Given the description of an element on the screen output the (x, y) to click on. 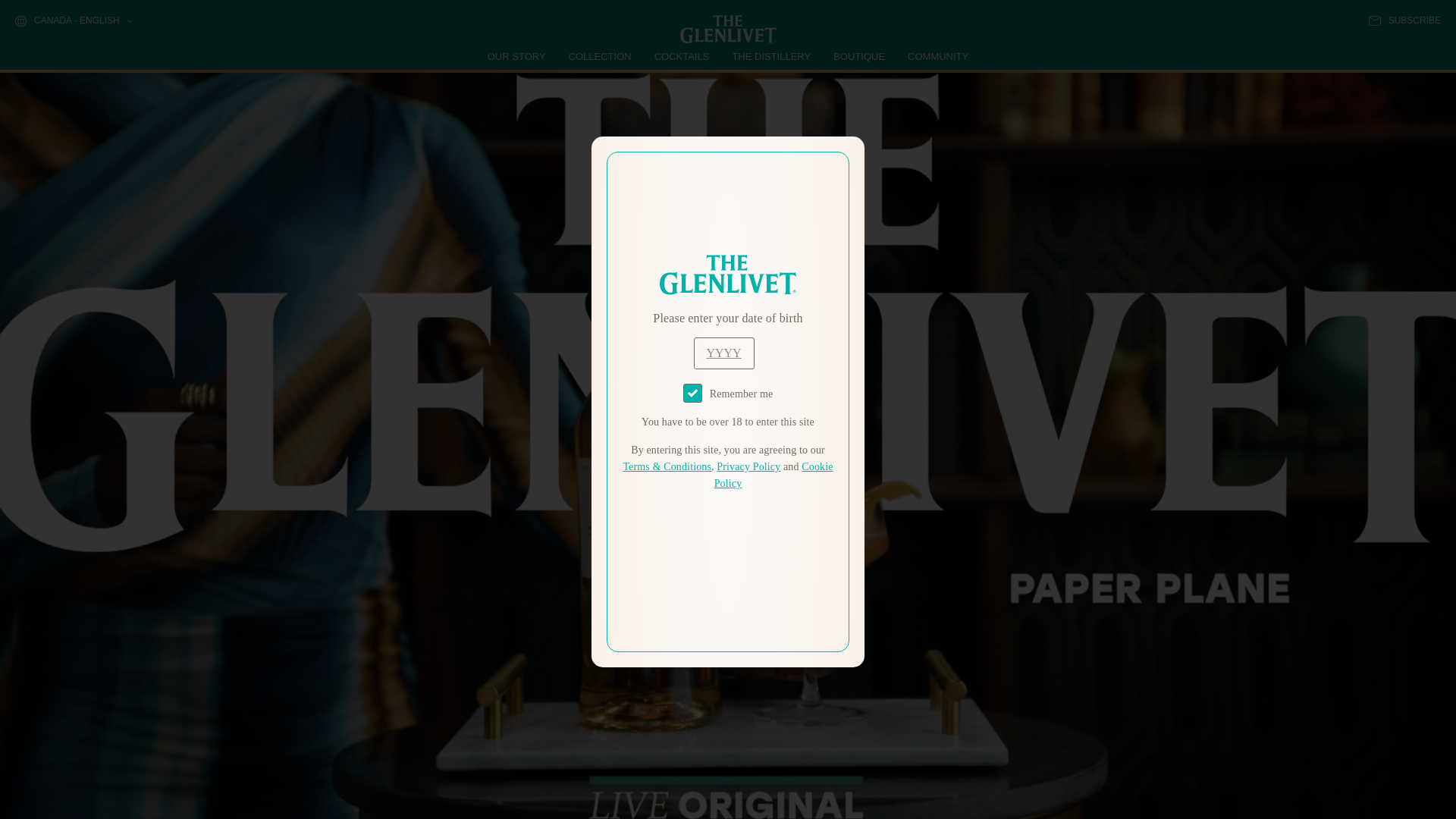
CANADA - ENGLISH (73, 21)
THE DISTILLERY (771, 56)
COCKTAILS (681, 56)
OUR STORY (516, 56)
SUBSCRIBE (1404, 20)
COMMUNITY (937, 56)
year (723, 353)
Cookie Policy (773, 474)
Privacy Policy (748, 466)
BOUTIQUE (858, 56)
COLLECTION (600, 56)
